Given the description of an element on the screen output the (x, y) to click on. 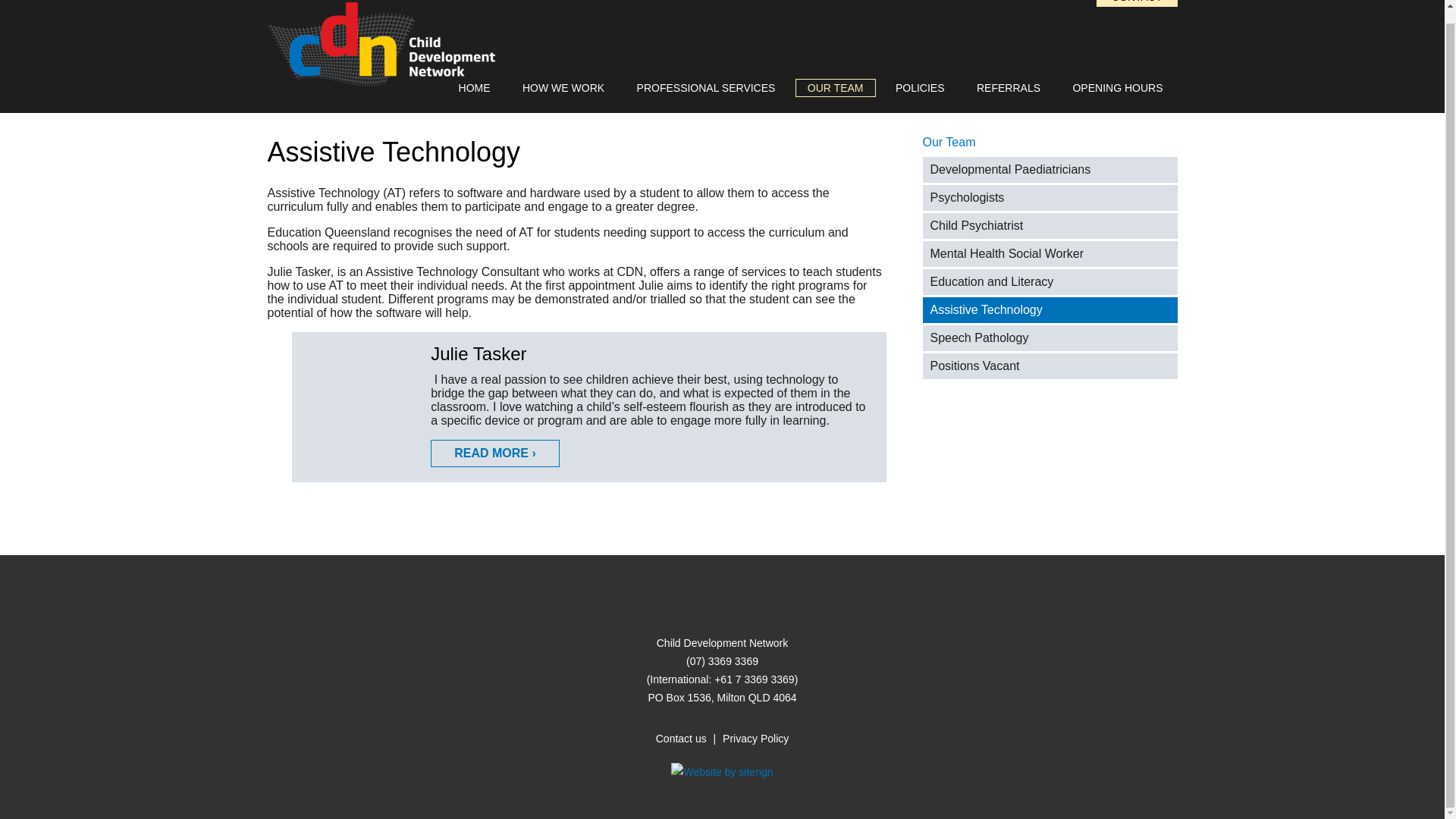
OUR TEAM (835, 87)
CONTACT (1136, 3)
PROFESSIONAL SERVICES (705, 87)
POLICIES (919, 87)
HOME (474, 87)
OPENING HOURS (1116, 87)
REFERRALS (1007, 87)
HOW WE WORK (563, 87)
